Given the description of an element on the screen output the (x, y) to click on. 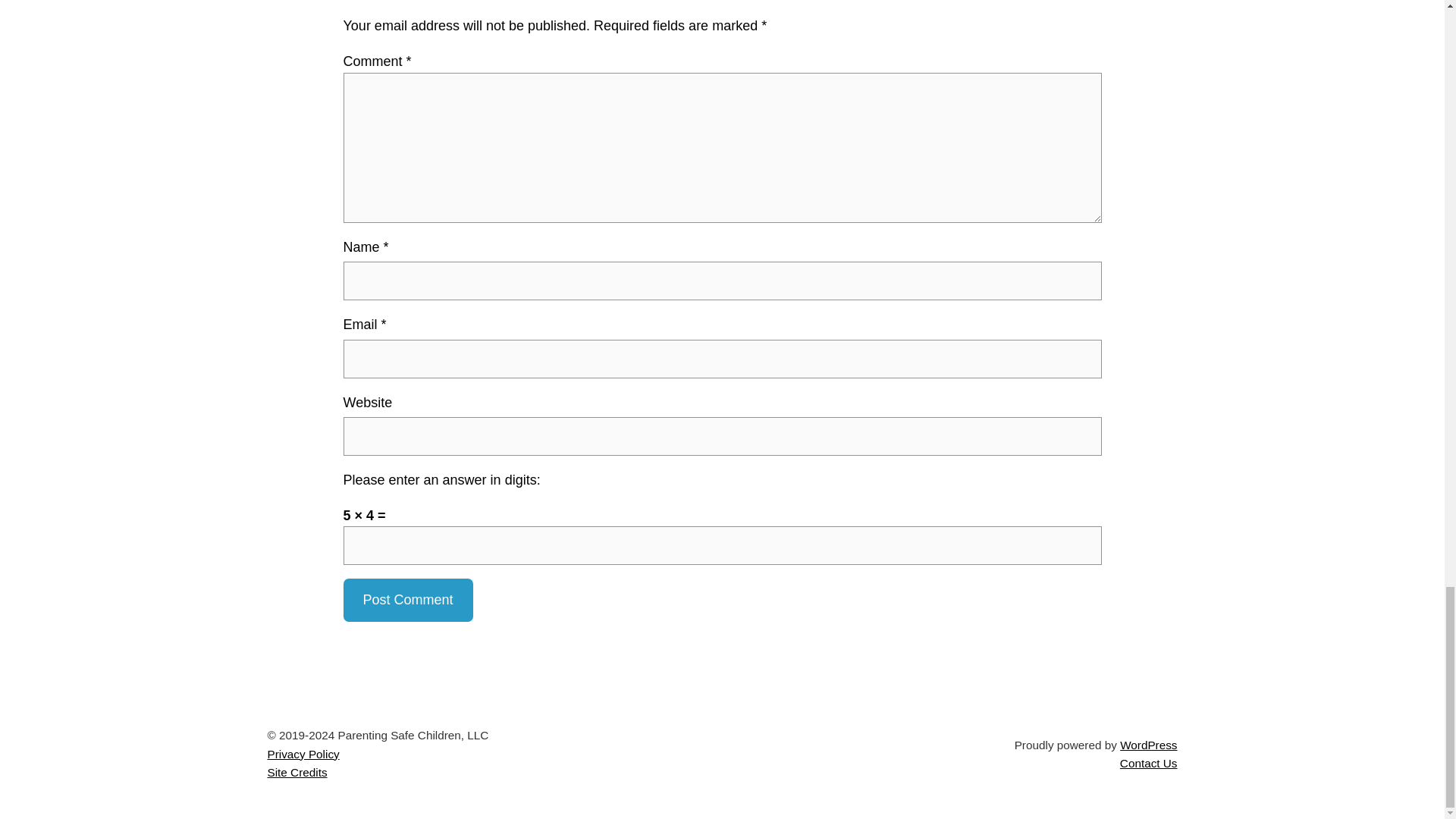
Post Comment (406, 599)
